Given the description of an element on the screen output the (x, y) to click on. 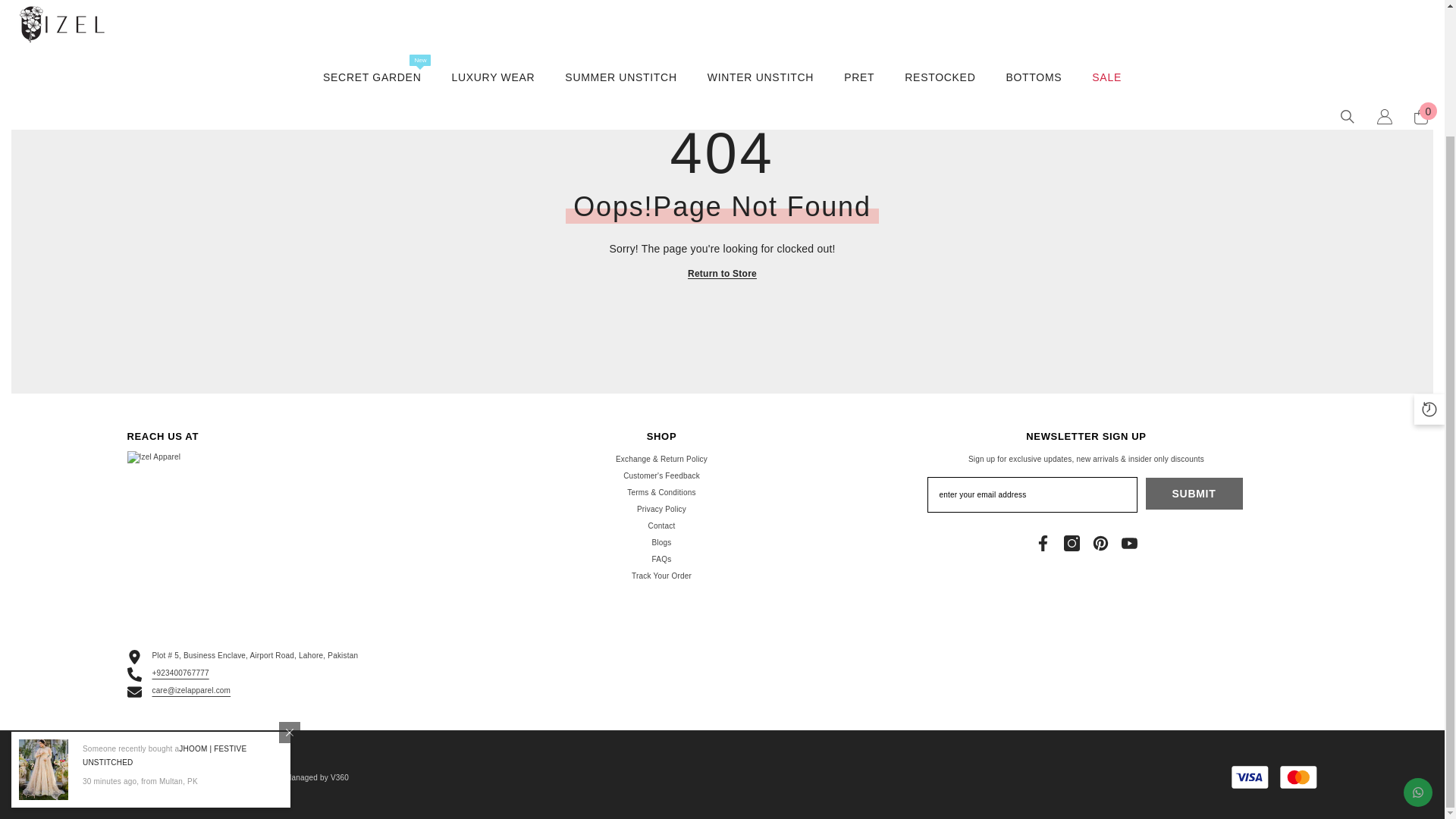
Return to Store (722, 274)
Mastercard (1298, 776)
Visa (1249, 776)
Customer'S Feedback (661, 475)
Track Your Order (661, 576)
FAQs (661, 559)
Contact (661, 525)
Blogs (660, 542)
Privacy Policy (661, 509)
